Given the description of an element on the screen output the (x, y) to click on. 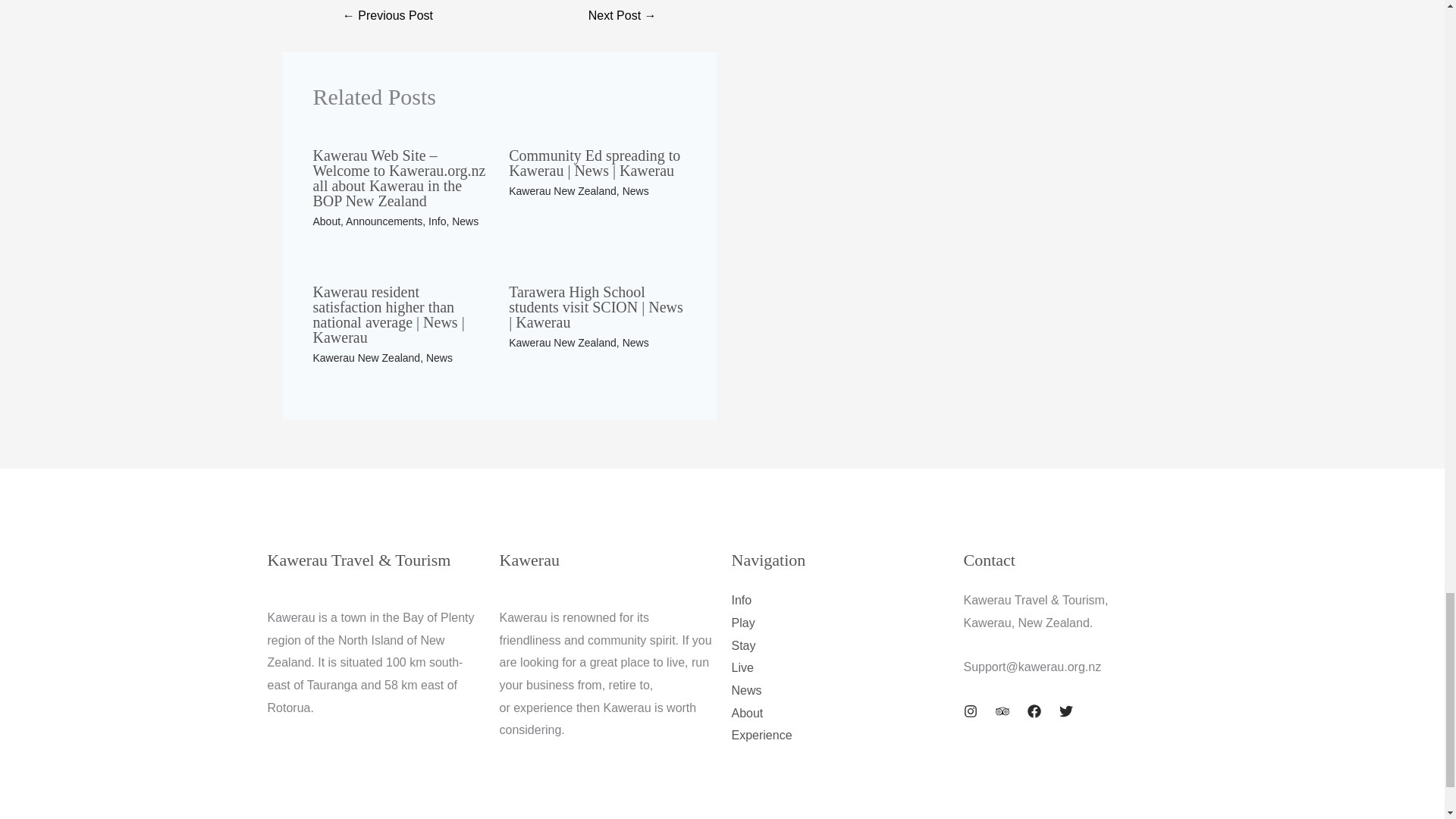
Info (436, 221)
About (326, 221)
Announcements (384, 221)
